Given the description of an element on the screen output the (x, y) to click on. 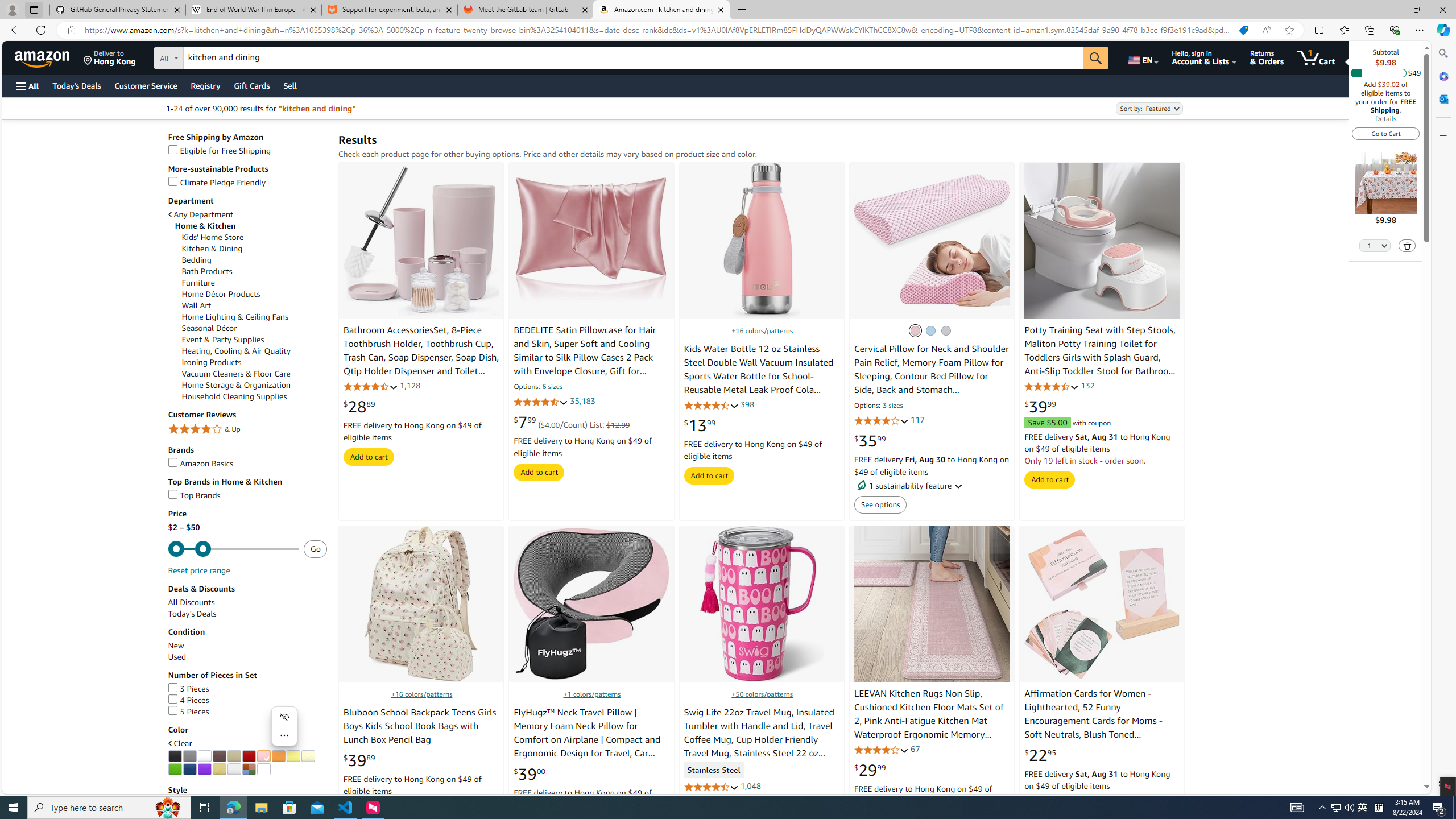
Close Outlook pane (1442, 98)
3 Pieces (188, 688)
$28.89 (359, 406)
$39.89 (359, 760)
AutomationID: p_n_feature_twenty_browse-bin/3254109011 (189, 769)
Minimum (233, 548)
$7.99 ( $4.00 /Count) List: $12.99 (571, 421)
AutomationID: p_n_feature_twenty_browse-bin/3254111011 (218, 769)
Beige (234, 756)
 1 sustainability feature (931, 485)
